Given the description of an element on the screen output the (x, y) to click on. 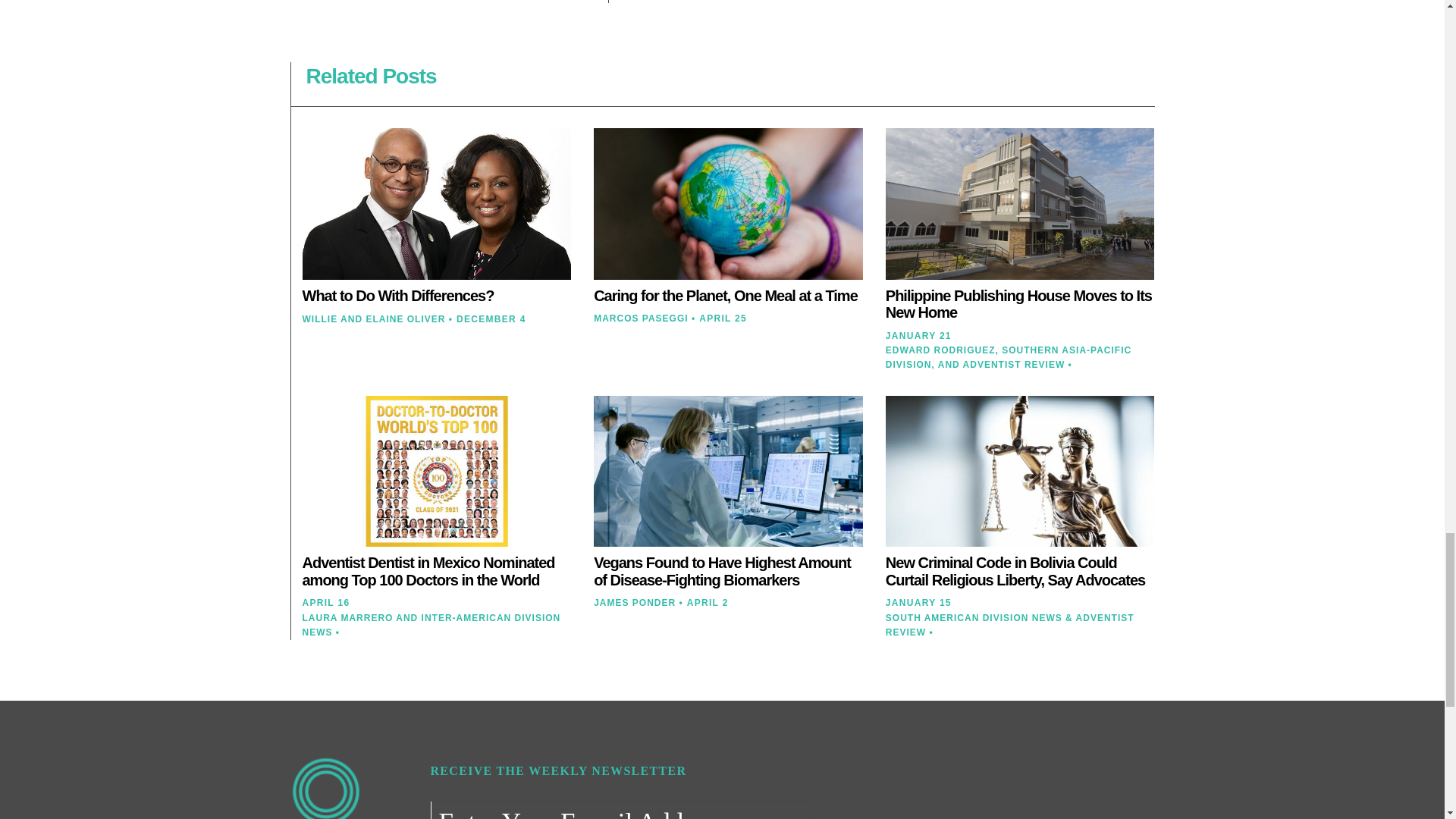
Caring for the Planet, One Meal at a Time (725, 295)
What to Do With Differences? (397, 295)
What to Do With Differences? (397, 295)
Philippine Publishing House Moves to Its New Home (1018, 304)
MARCOS PASEGGI (640, 317)
WILLIE AND ELAINE OLIVER (373, 318)
Philippine Publishing House Moves to Its New Home (1018, 304)
Caring for the Planet, One Meal at a Time (725, 295)
